Given the description of an element on the screen output the (x, y) to click on. 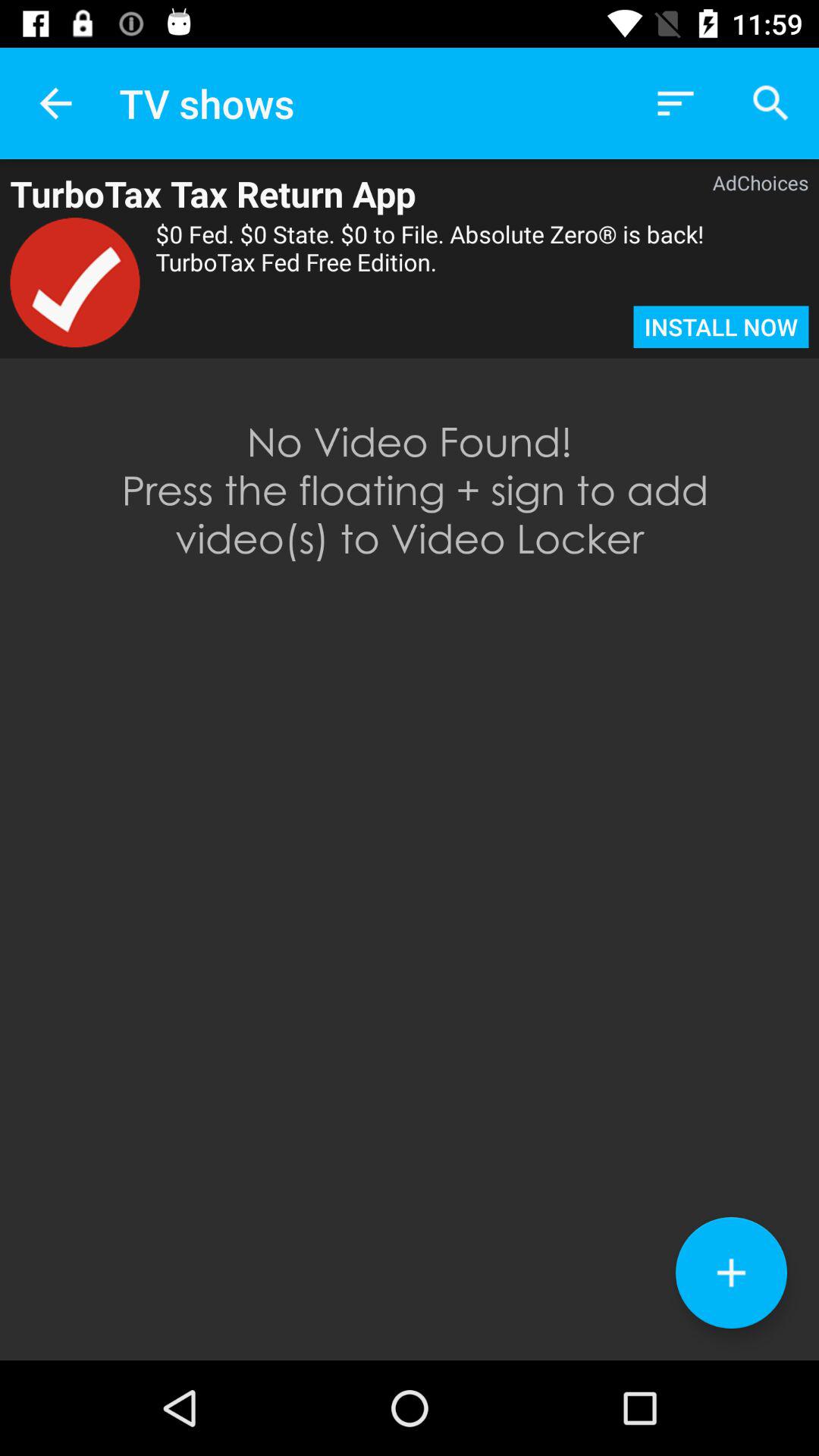
select icon above no video found icon (720, 326)
